Given the description of an element on the screen output the (x, y) to click on. 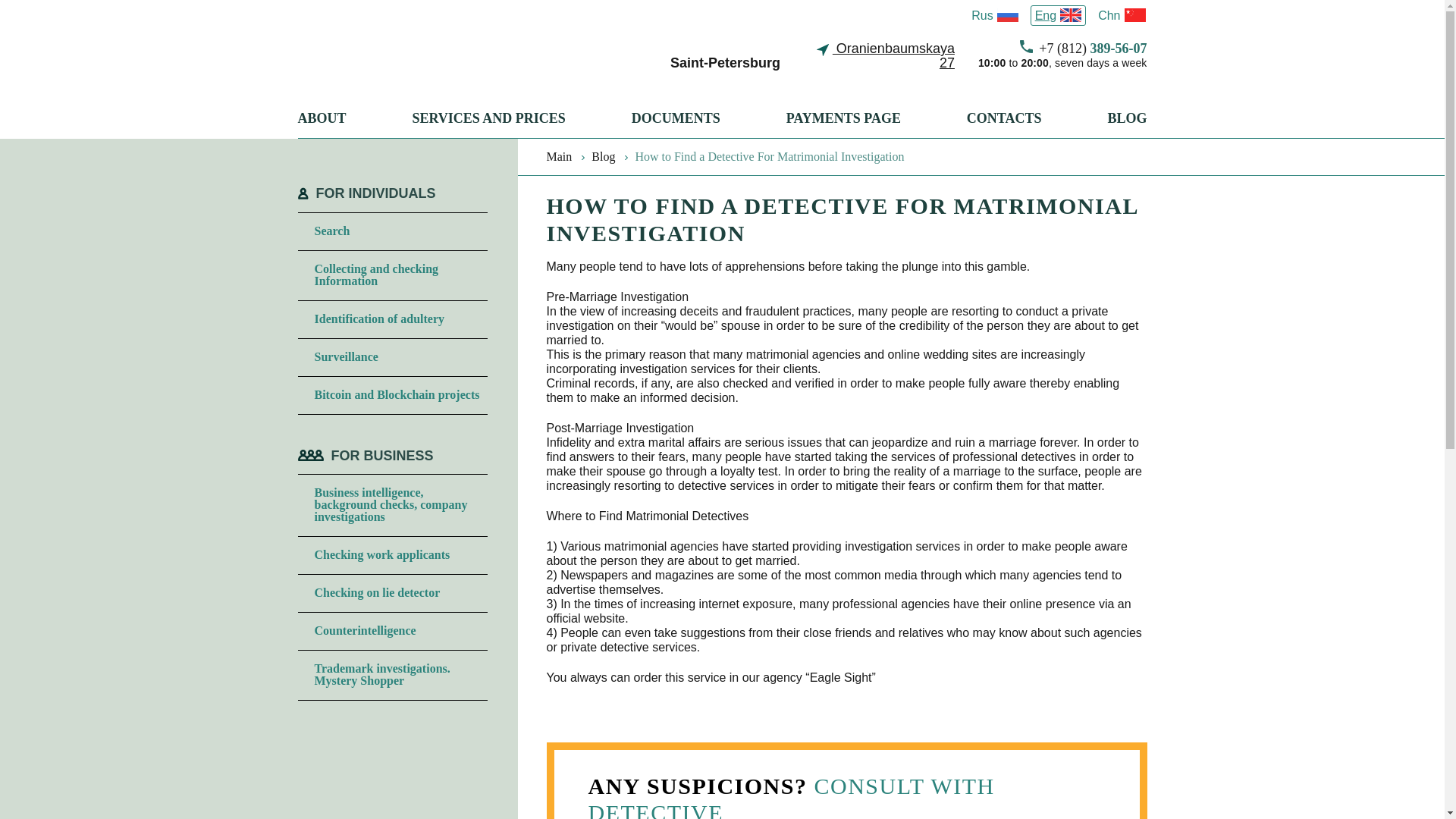
DOCUMENTS (675, 124)
ABOUT (321, 124)
Collecting and checking Information (400, 274)
CONTACTS (1004, 124)
Rus (994, 14)
Oranienbaumskaya 27 (884, 55)
PAYMENTS PAGE (843, 124)
SERVICES AND PRICES (488, 124)
Eng (1058, 14)
Identification of adultery (400, 318)
